Given the description of an element on the screen output the (x, y) to click on. 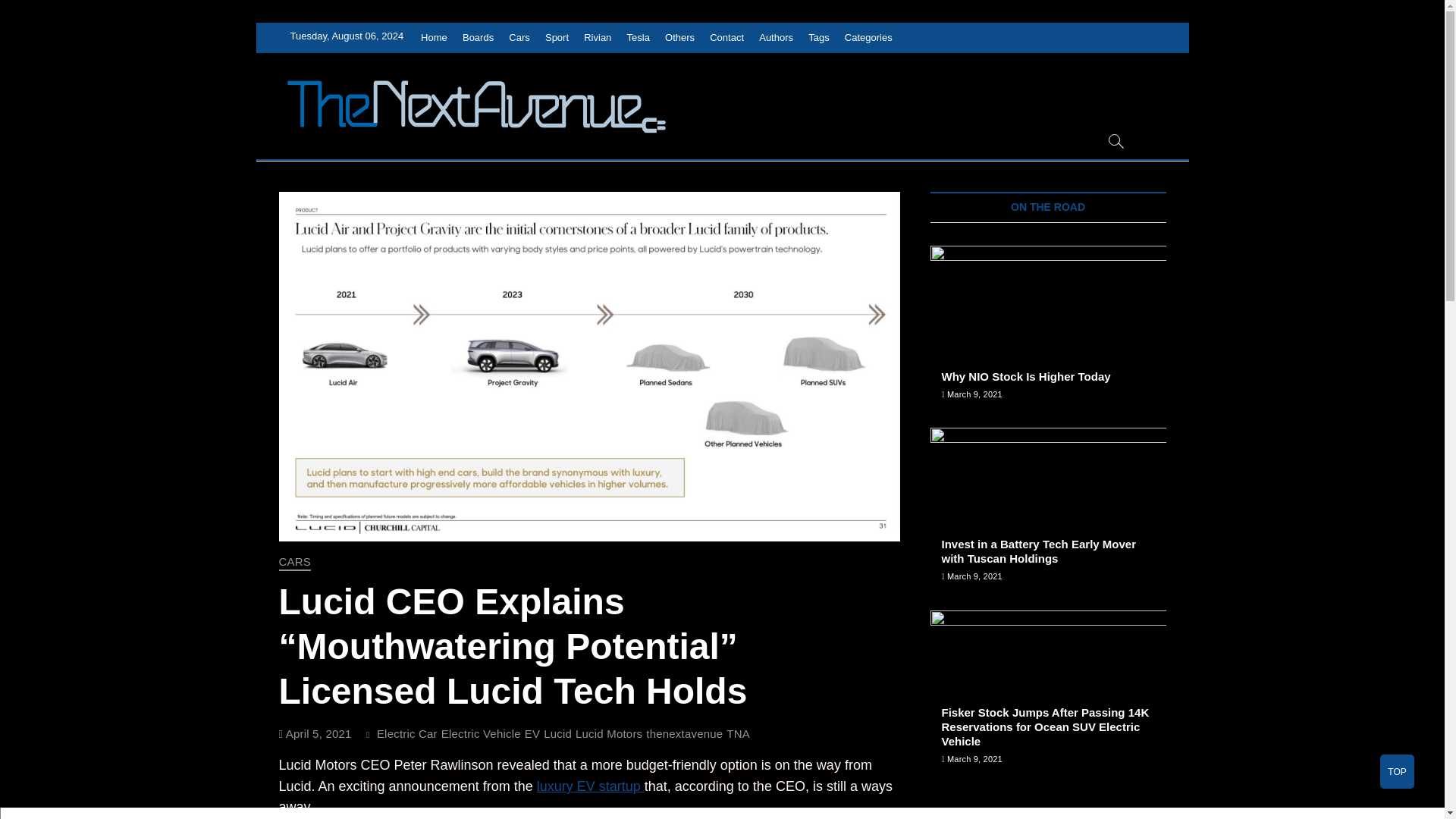
CARS (295, 562)
Tesla (638, 37)
The Next Avenue (779, 103)
Invest in a Battery Tech Early Mover with Tuscan Holdings (1048, 510)
thenextavenue (686, 735)
Why NIO Stock Is Higher Today (1048, 328)
Sport (556, 37)
Why NIO Stock Is Higher Today (1026, 376)
